Given the description of an element on the screen output the (x, y) to click on. 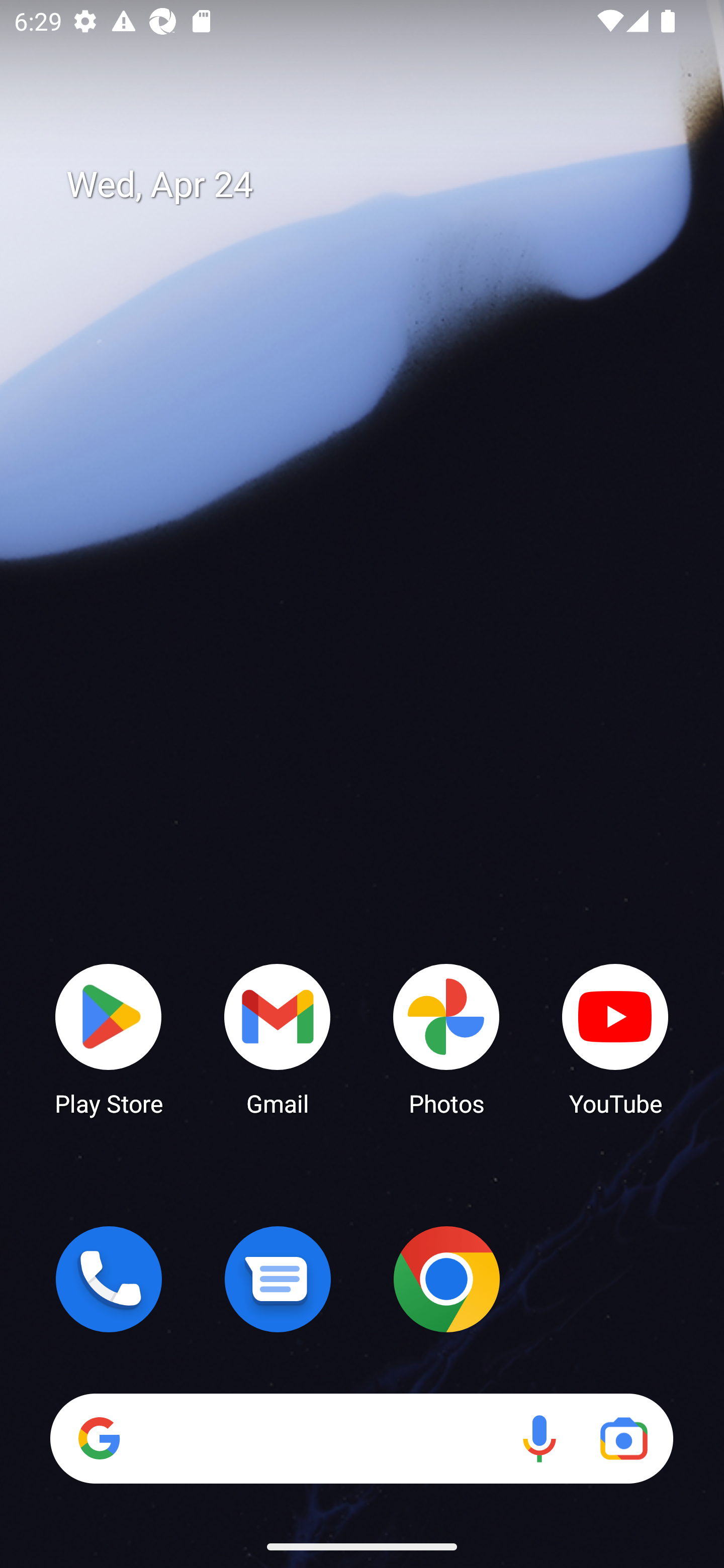
Wed, Apr 24 (375, 184)
Play Store (108, 1038)
Gmail (277, 1038)
Photos (445, 1038)
YouTube (615, 1038)
Phone (108, 1279)
Messages (277, 1279)
Chrome (446, 1279)
Search Voice search Google Lens (361, 1438)
Voice search (539, 1438)
Google Lens (623, 1438)
